Given the description of an element on the screen output the (x, y) to click on. 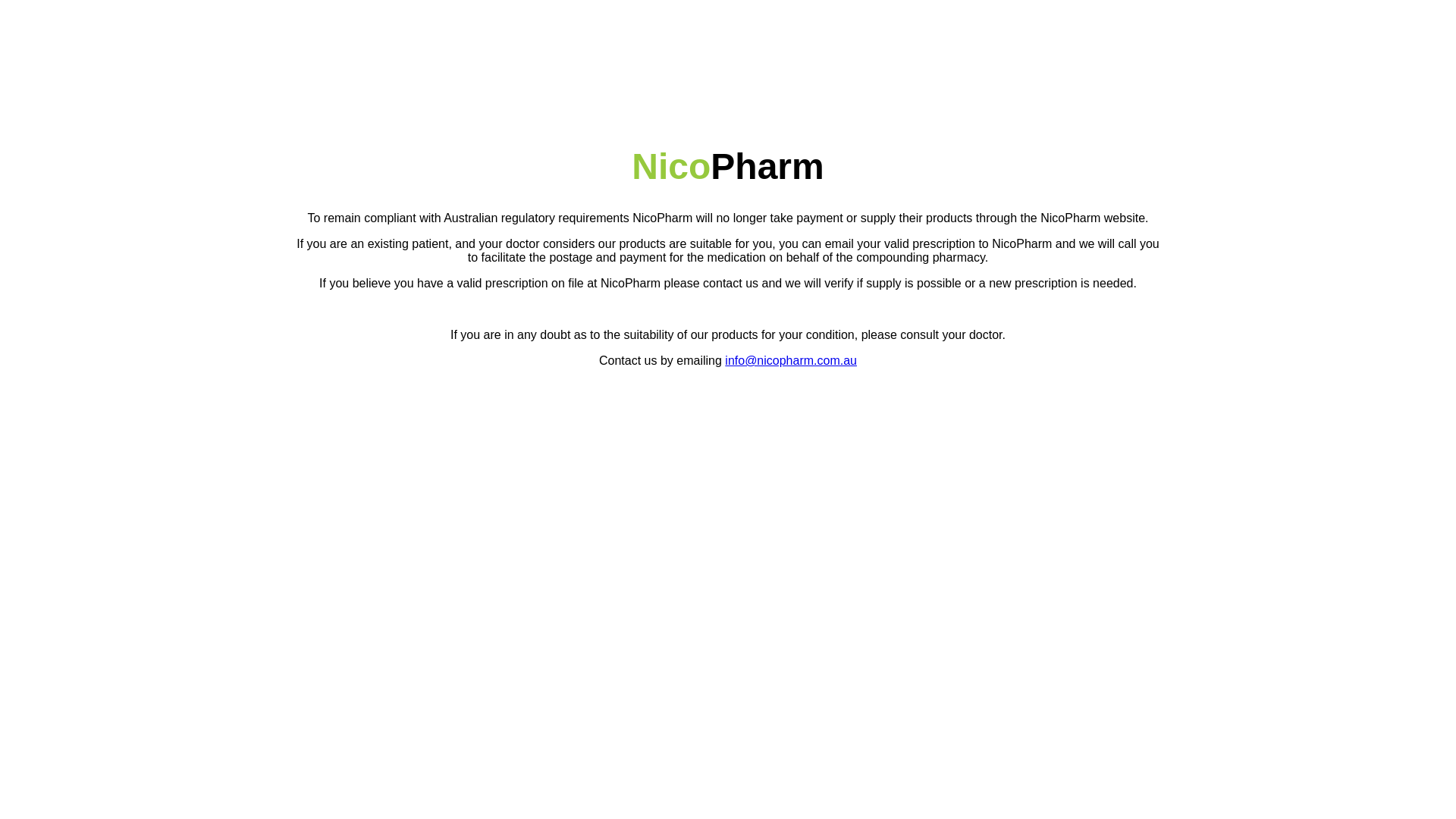
info@nicopharm.com.au Element type: text (790, 360)
